Given the description of an element on the screen output the (x, y) to click on. 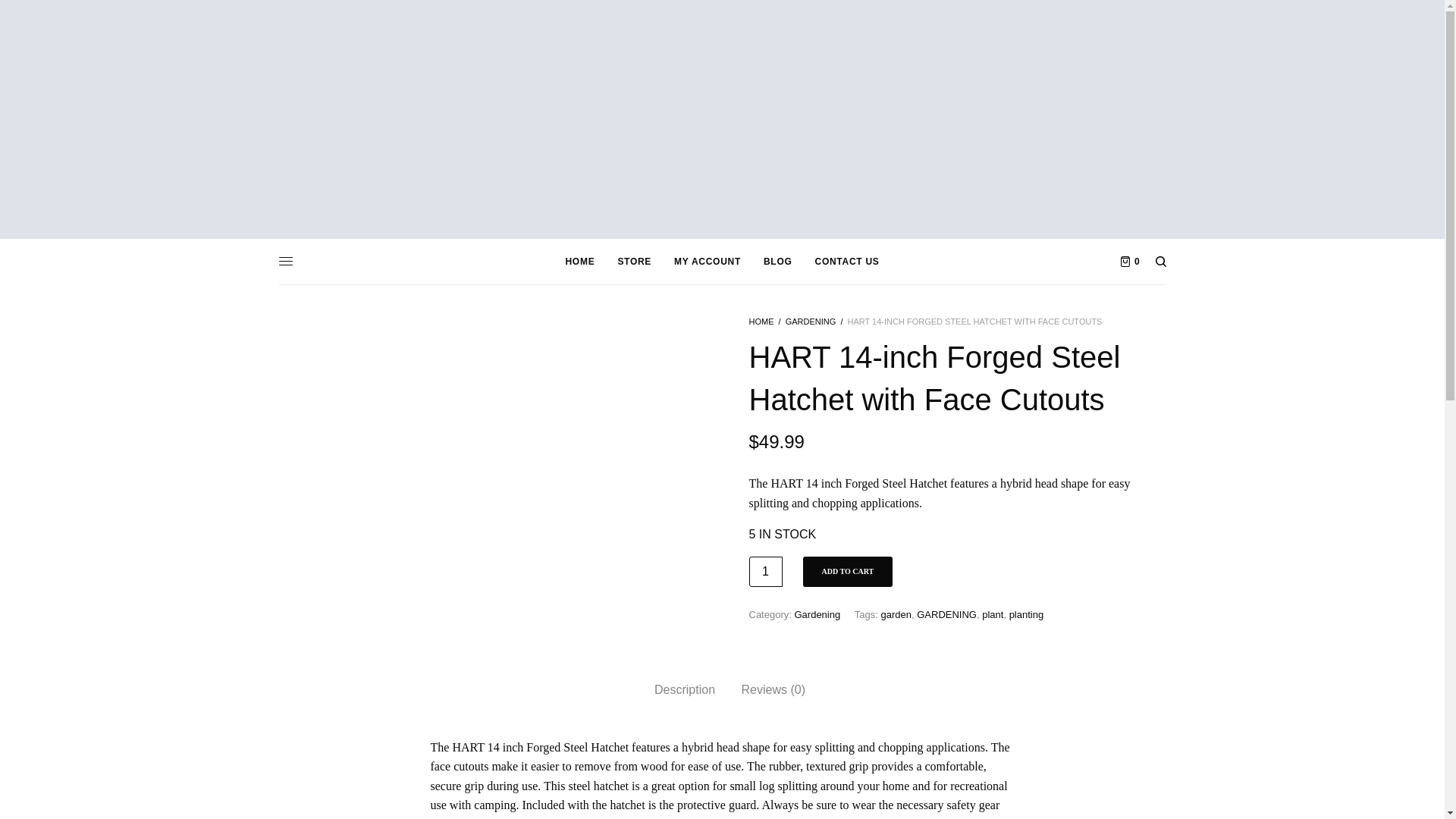
ADD TO CART (847, 571)
Qty (766, 571)
planting (1026, 614)
GARDENING (946, 614)
HOME (761, 320)
GARDENING (810, 320)
CONTACT US (847, 261)
plant (992, 614)
Gardening (816, 614)
Description (683, 690)
1 (766, 571)
MY ACCOUNT (707, 261)
garden (895, 614)
